Given the description of an element on the screen output the (x, y) to click on. 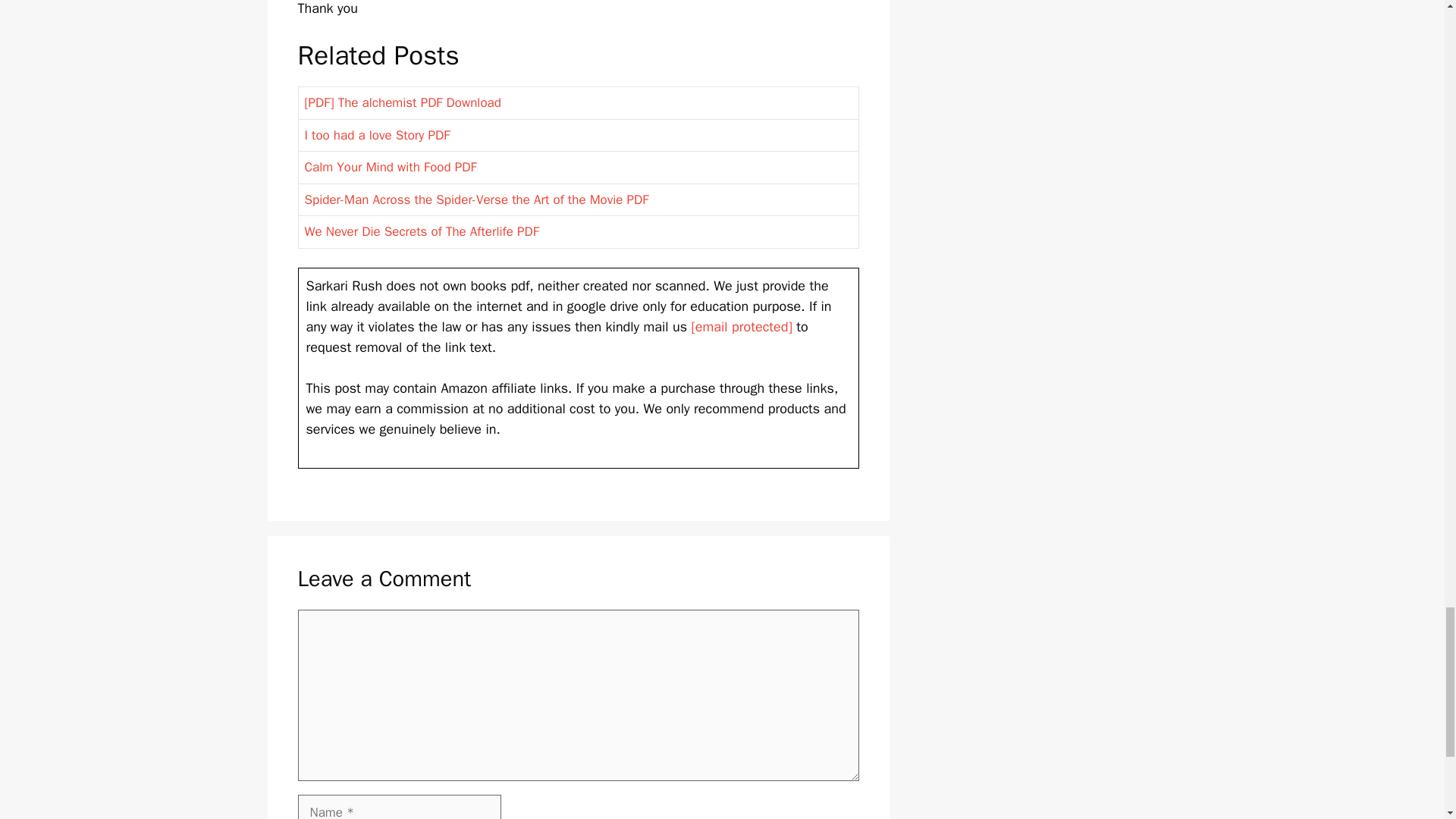
Spider-Man Across the Spider-Verse the Art of the Movie PDF (476, 199)
Calm Your Mind with Food PDF (390, 166)
We Never Die Secrets of The Afterlife PDF (421, 231)
I too had a love Story PDF (376, 135)
